Given the description of an element on the screen output the (x, y) to click on. 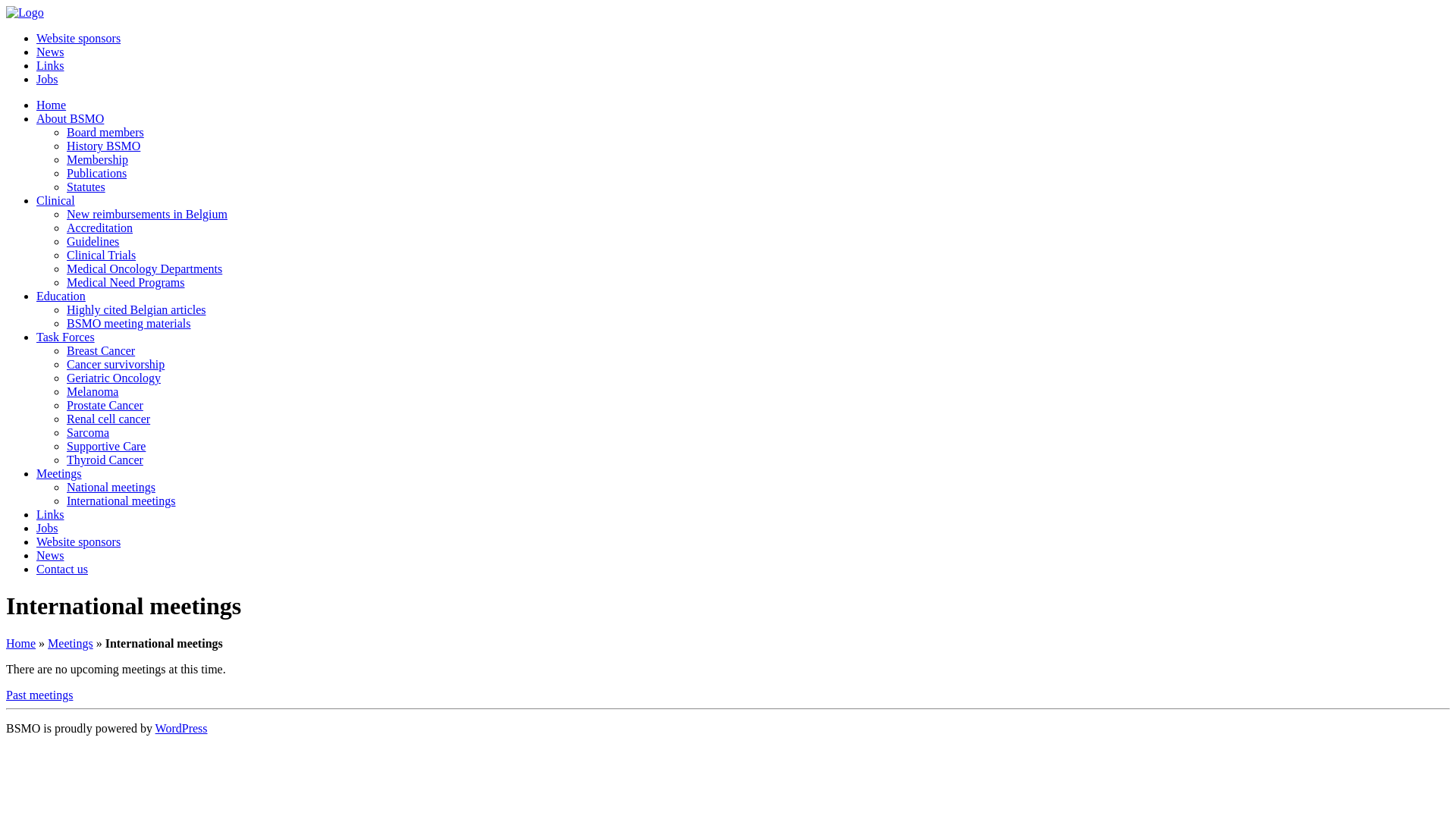
Accreditation Element type: text (99, 227)
Melanoma Element type: text (92, 391)
National meetings Element type: text (110, 486)
Links Element type: text (49, 65)
Jobs Element type: text (46, 78)
Geriatric Oncology Element type: text (113, 377)
Renal cell cancer Element type: text (108, 418)
Publications Element type: text (96, 172)
BSMO meeting materials Element type: text (128, 322)
BSMO Element type: hover (24, 12)
Board members Element type: text (105, 131)
Statutes Element type: text (85, 186)
Contact us Element type: text (61, 568)
History BSMO Element type: text (103, 145)
International meetings Element type: text (120, 500)
Clinical Trials Element type: text (100, 254)
Past meetings Element type: text (39, 694)
Meetings Element type: text (70, 643)
New reimbursements in Belgium Element type: text (146, 213)
News Element type: text (49, 555)
Meetings Element type: text (58, 473)
Cancer survivorship Element type: text (115, 363)
Jobs Element type: text (46, 527)
WordPress Element type: text (181, 727)
Links Element type: text (49, 514)
Highly cited Belgian articles Element type: text (136, 309)
Task Forces Element type: text (65, 336)
Guidelines Element type: text (92, 241)
Website sponsors Element type: text (78, 37)
Prostate Cancer Element type: text (104, 404)
Website sponsors Element type: text (78, 541)
Clinical Element type: text (55, 200)
Education Element type: text (60, 295)
Home Element type: text (50, 104)
Breast Cancer Element type: text (100, 350)
Thyroid Cancer Element type: text (104, 459)
Medical Oncology Departments Element type: text (144, 268)
Home Element type: text (20, 643)
Membership Element type: text (97, 159)
Sarcoma Element type: text (87, 432)
Medical Need Programs Element type: text (125, 282)
Supportive Care Element type: text (105, 445)
About BSMO Element type: text (69, 118)
News Element type: text (49, 51)
